Given the description of an element on the screen output the (x, y) to click on. 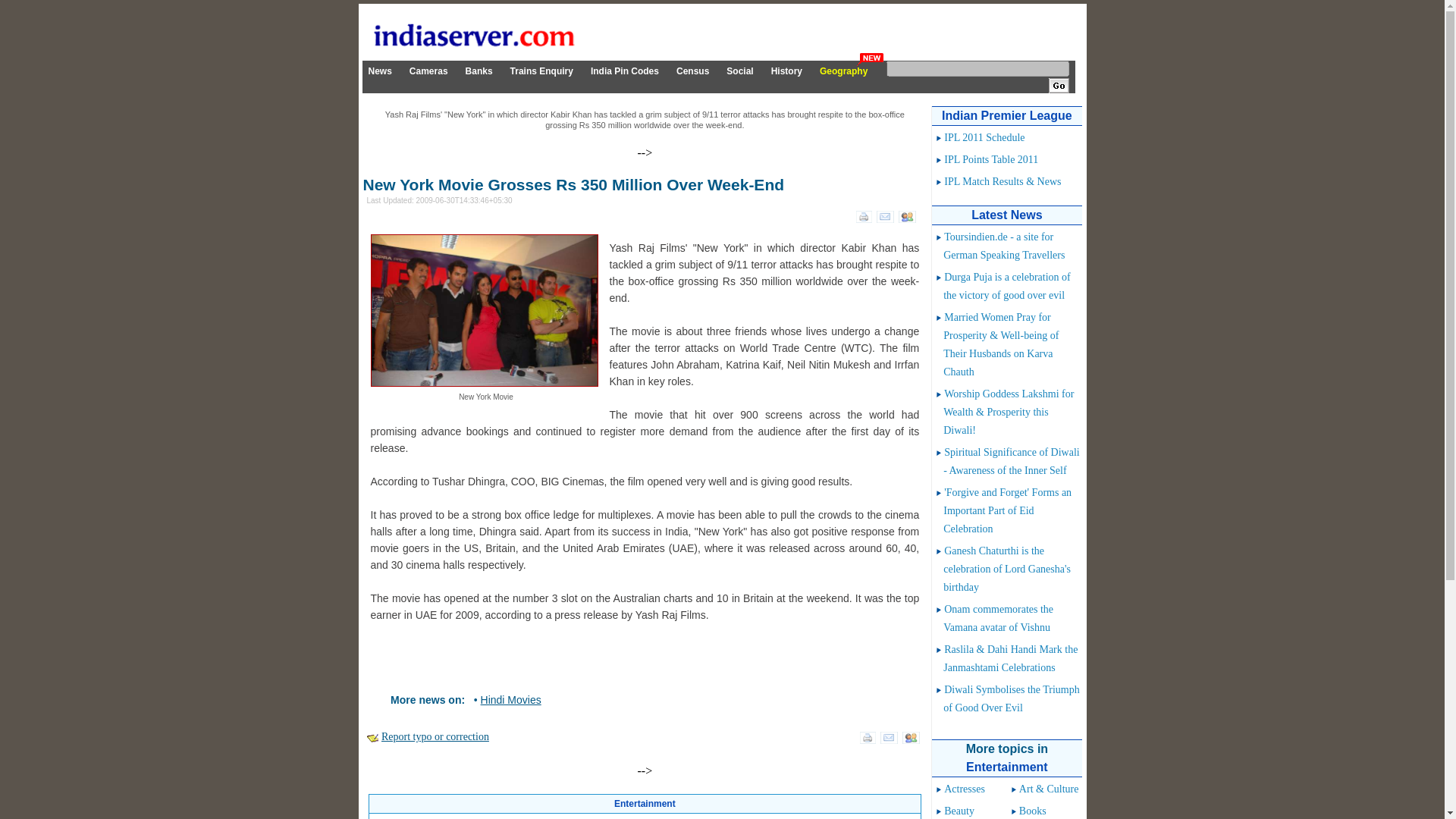
History (786, 71)
Report typo or correction (435, 736)
Toursindien.de - a site for German Speaking Travellers (1003, 245)
Banks (479, 71)
IPL 2011 Schedule (984, 137)
Cameras (428, 71)
News (379, 71)
Entertainment (644, 803)
IPL Points Table 2011 (990, 159)
